Given the description of an element on the screen output the (x, y) to click on. 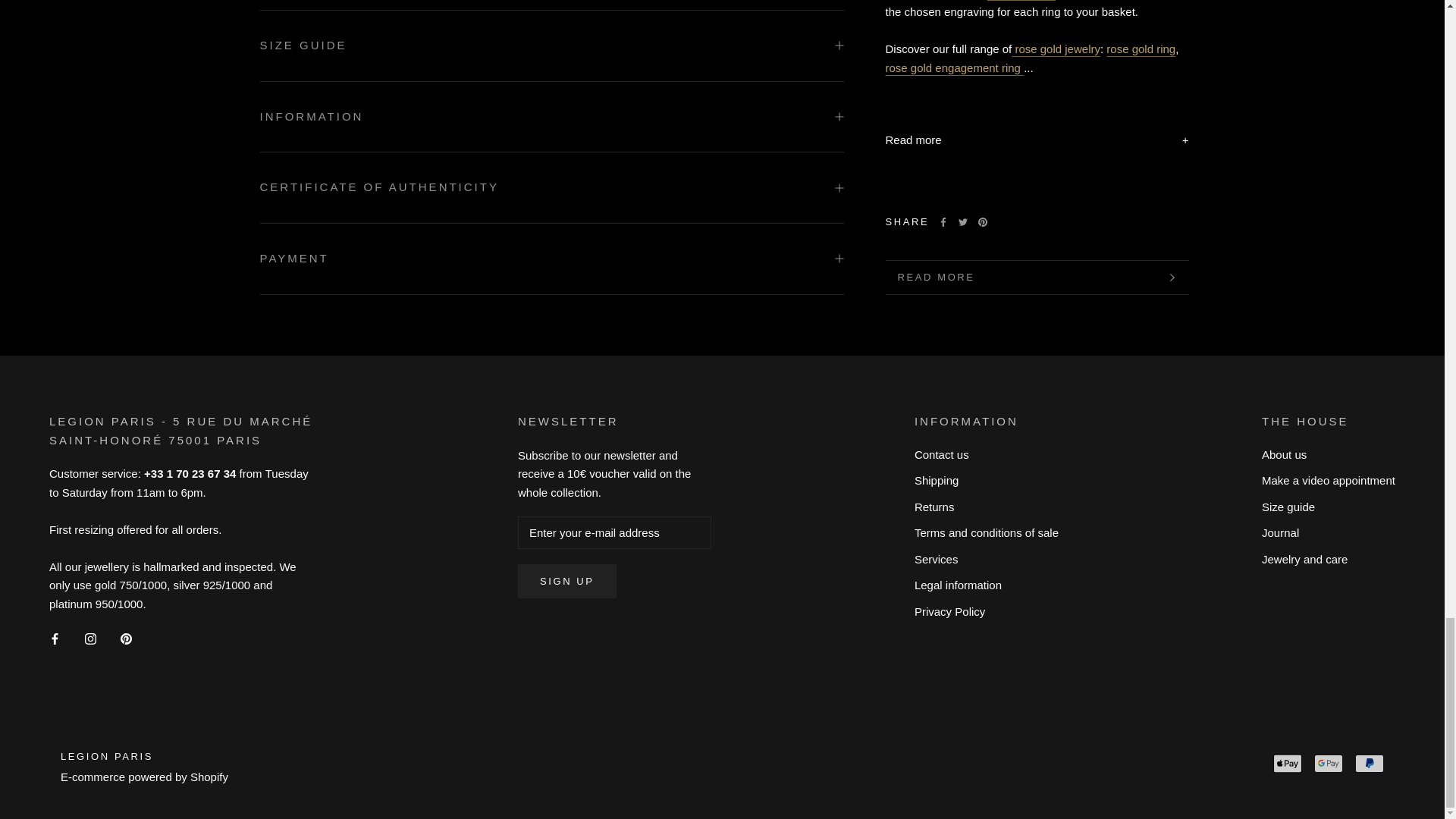
Apple Pay (1286, 763)
Google Pay (1328, 763)
PayPal (1369, 763)
